Given the description of an element on the screen output the (x, y) to click on. 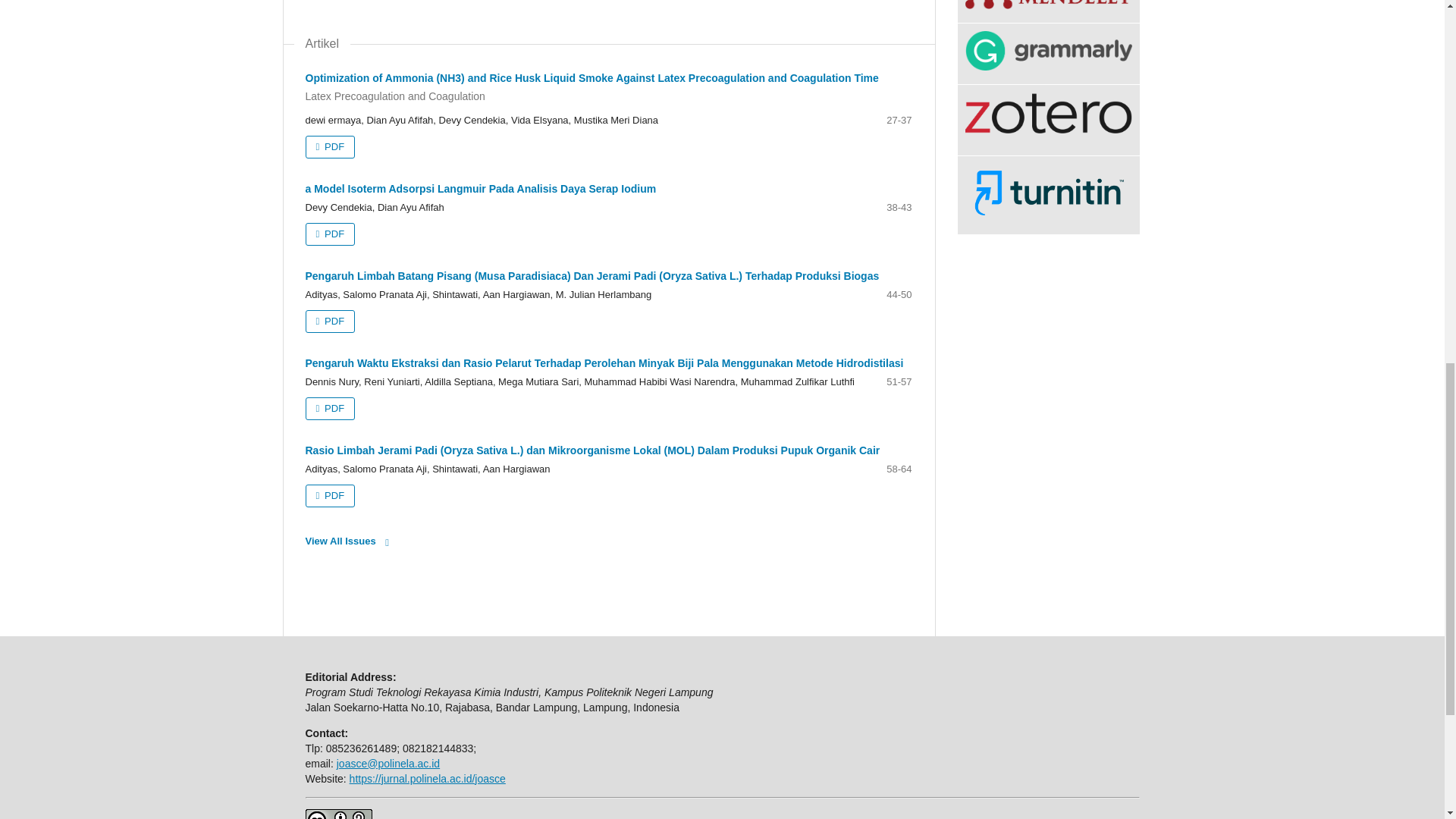
PDF (329, 146)
PDF (329, 233)
PDF (329, 321)
PDF (329, 408)
PDF (329, 495)
